Given the description of an element on the screen output the (x, y) to click on. 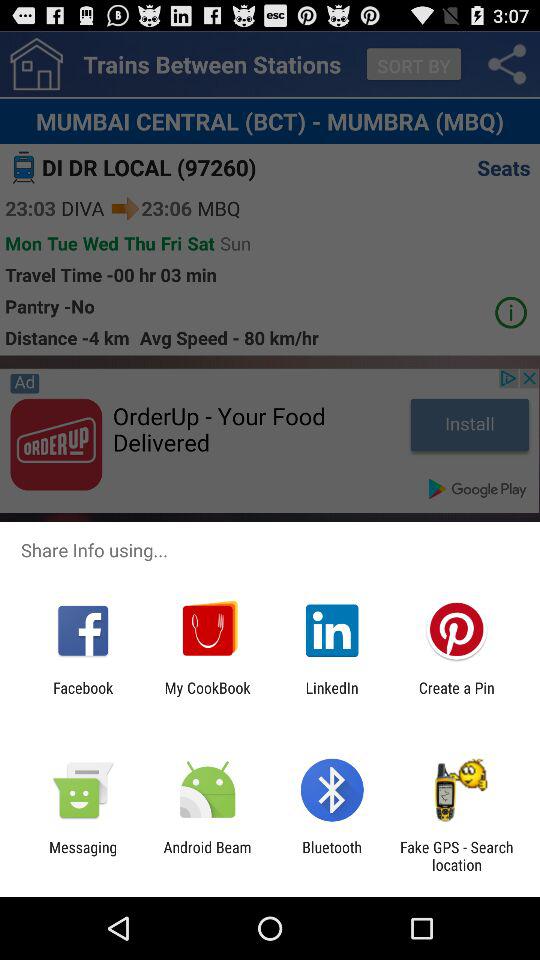
open the app to the right of the android beam app (331, 856)
